Given the description of an element on the screen output the (x, y) to click on. 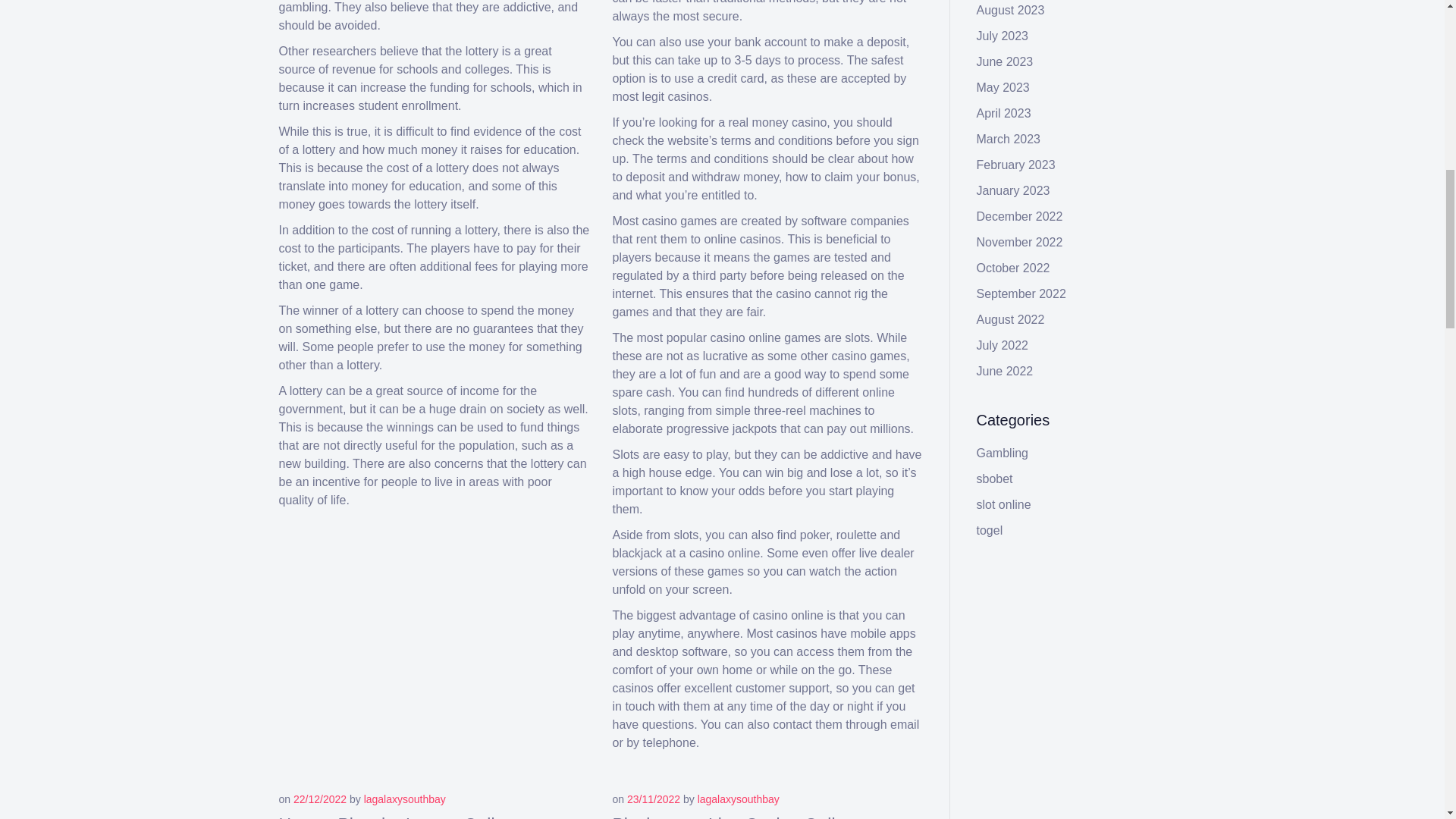
Playing at a Live Casino Online (734, 816)
lagalaxysouthbay (404, 799)
lagalaxysouthbay (737, 799)
How to Play the Lottery Online (397, 816)
